Given the description of an element on the screen output the (x, y) to click on. 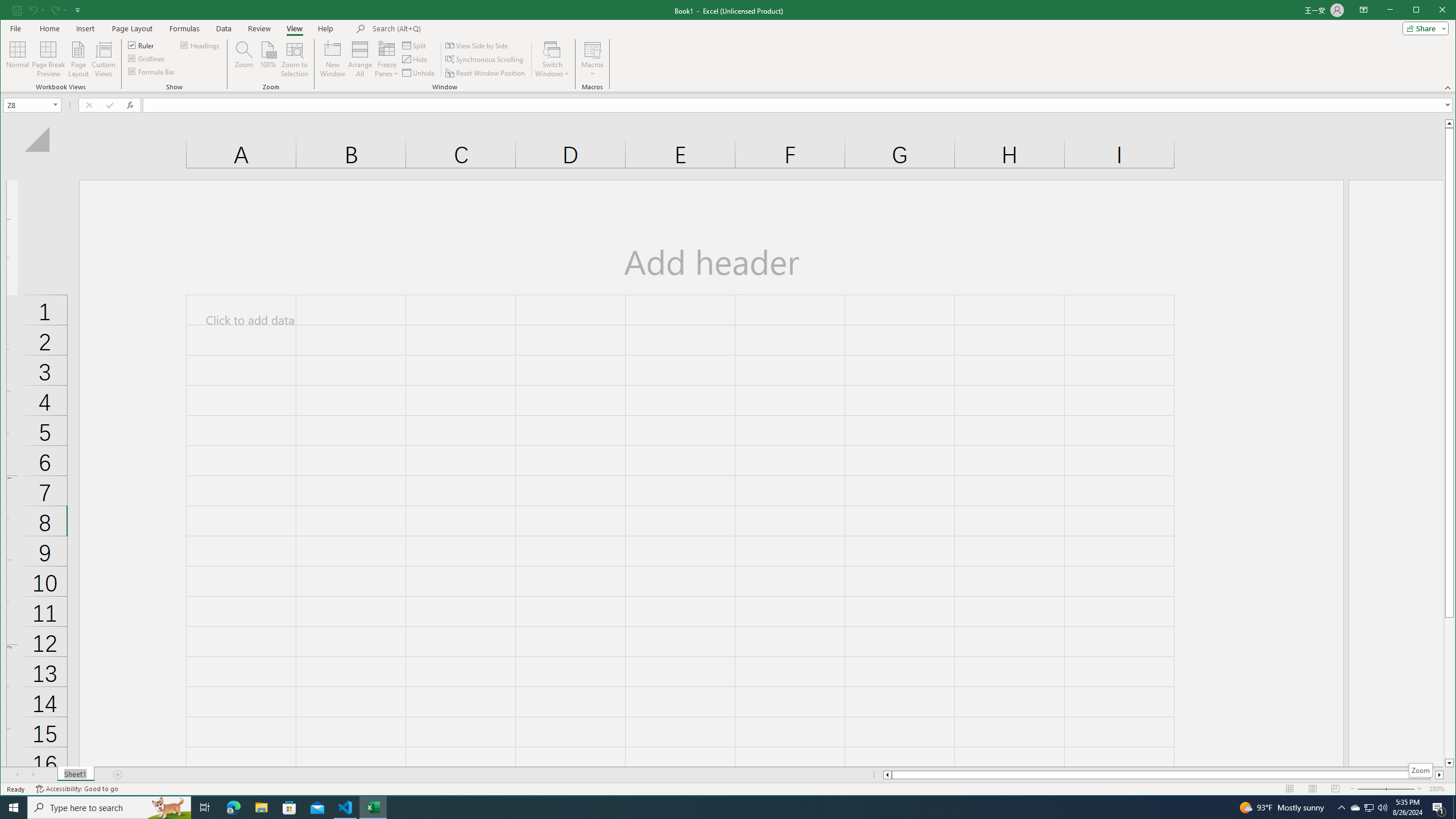
Zoom to Selection (294, 59)
Redo (55, 9)
Sheet Tab (75, 774)
Switch Windows (552, 59)
Undo (32, 9)
Q2790: 100% (1382, 807)
Review (259, 28)
Notification Chevron (1341, 807)
Close (1444, 11)
Type here to search (108, 807)
Search highlights icon opens search home window (167, 807)
More Options (592, 69)
File Tab (15, 27)
User Promoted Notification Area (1368, 807)
Page Layout (78, 59)
